Given the description of an element on the screen output the (x, y) to click on. 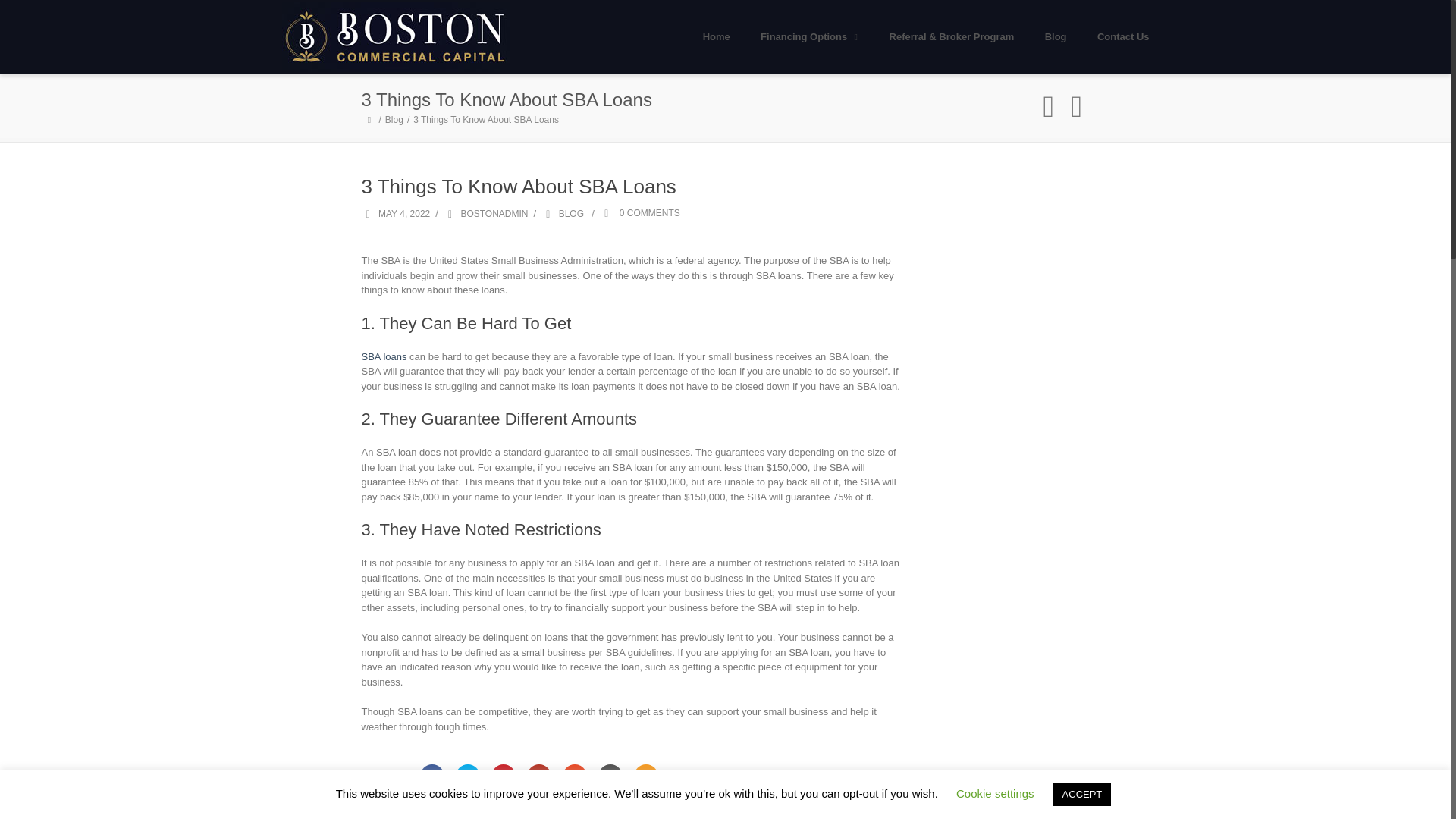
Contact Us (1123, 36)
Boston Commercial Capital (395, 36)
Financing Options (809, 36)
Blog (396, 119)
Blog (396, 119)
BOSTONADMIN (493, 213)
Posts by bostonadmin (493, 213)
View all posts in Blog (562, 213)
